Given the description of an element on the screen output the (x, y) to click on. 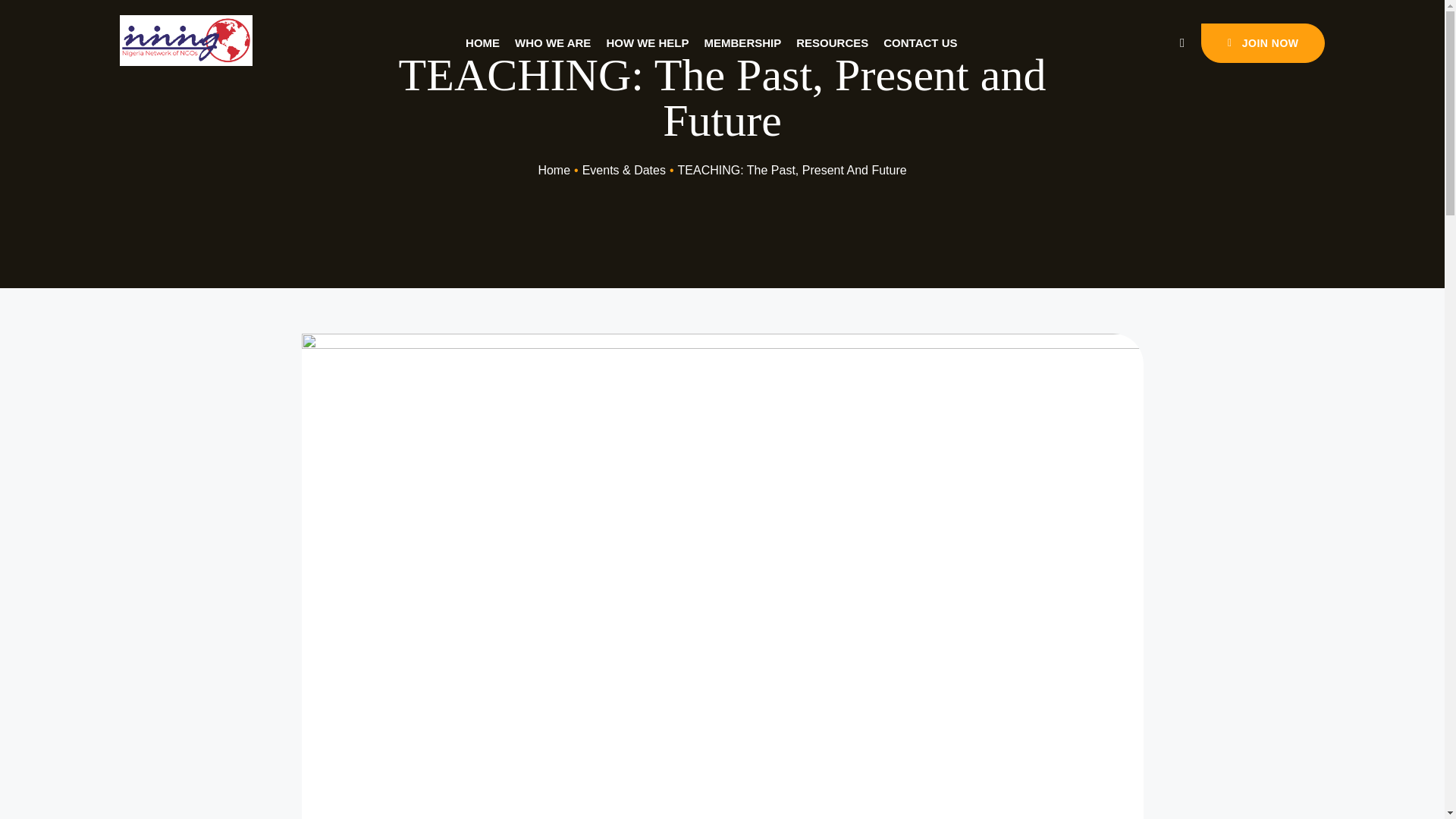
CONTACT US (919, 43)
Home (553, 169)
RESOURCES (831, 43)
MEMBERSHIP (742, 43)
WHO WE ARE (553, 43)
HOW WE HELP (646, 43)
